Given the description of an element on the screen output the (x, y) to click on. 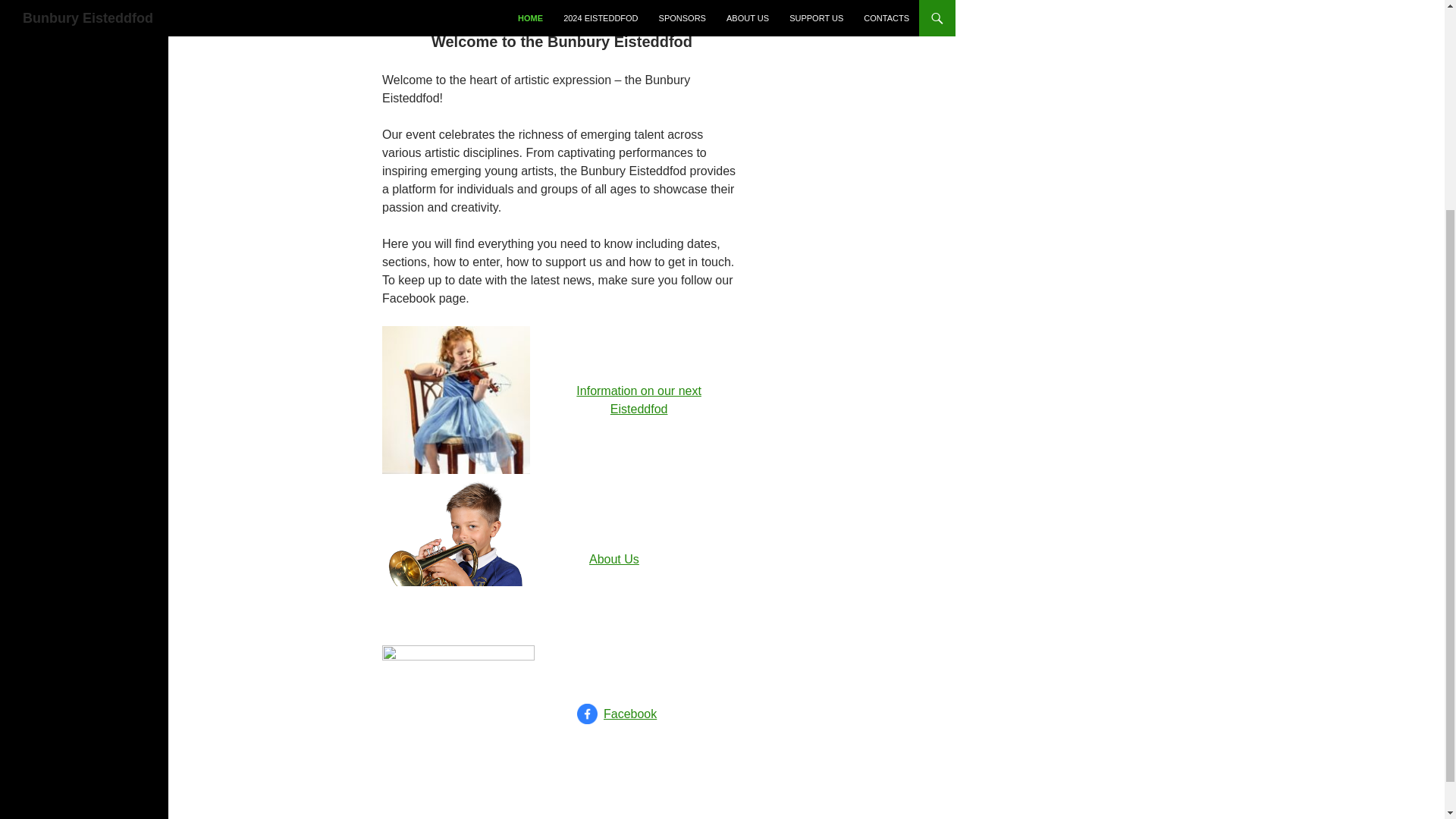
Information on our next Eisteddfod (638, 399)
Facebook (630, 713)
About Us (614, 558)
